Given the description of an element on the screen output the (x, y) to click on. 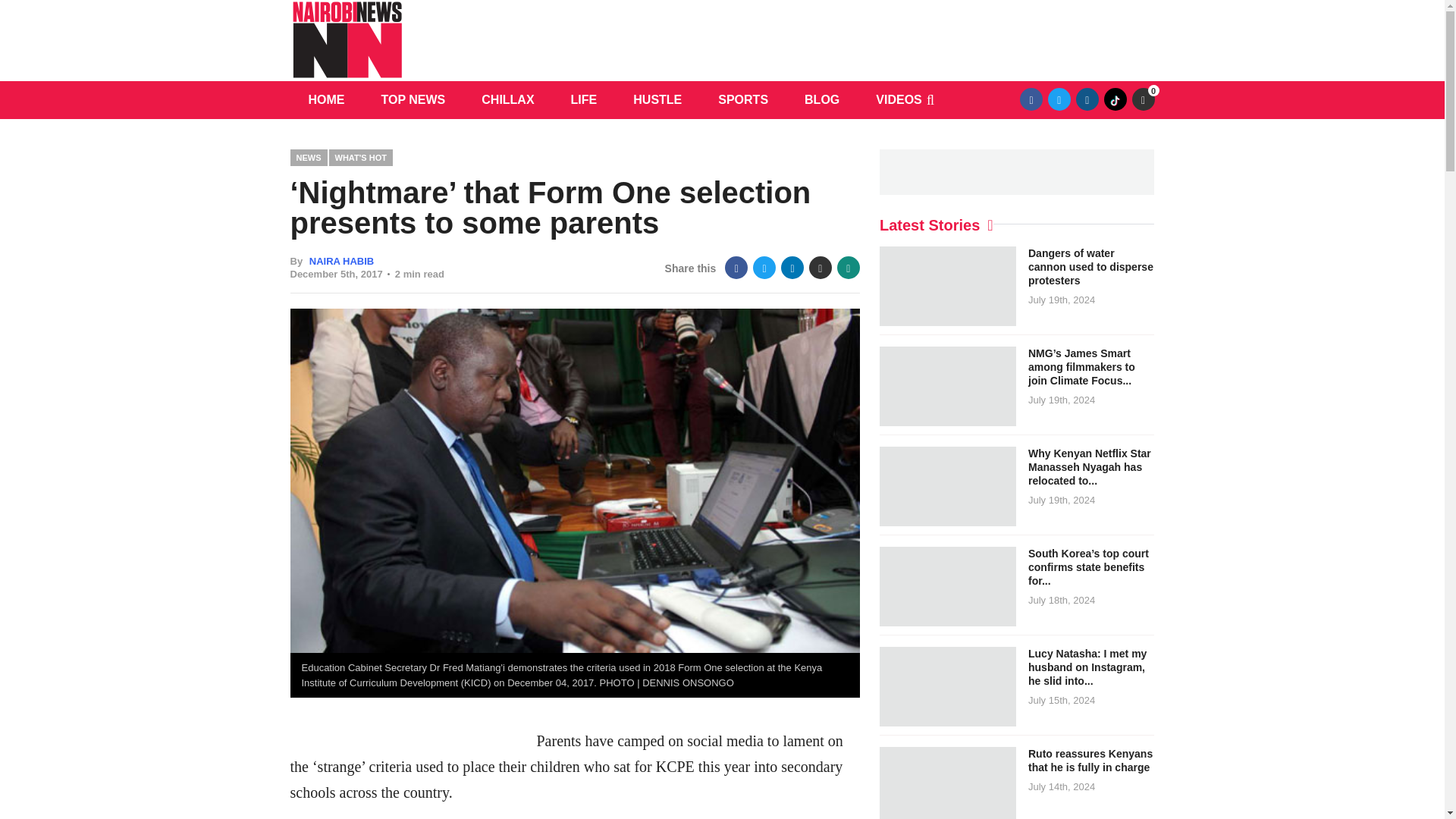
LIFE (584, 99)
LinkedIn (791, 267)
TikTok (1114, 98)
Twitter (764, 267)
Updates made in the last 20 minutes (1142, 98)
Twitter (1059, 98)
VIDEOS (898, 99)
WhatsApp (848, 267)
NAIRA HABIB (341, 260)
HOME (325, 99)
WHAT'S HOT (360, 157)
Email (820, 267)
0 (1142, 98)
SPORTS (743, 99)
Instagram (1087, 98)
